Given the description of an element on the screen output the (x, y) to click on. 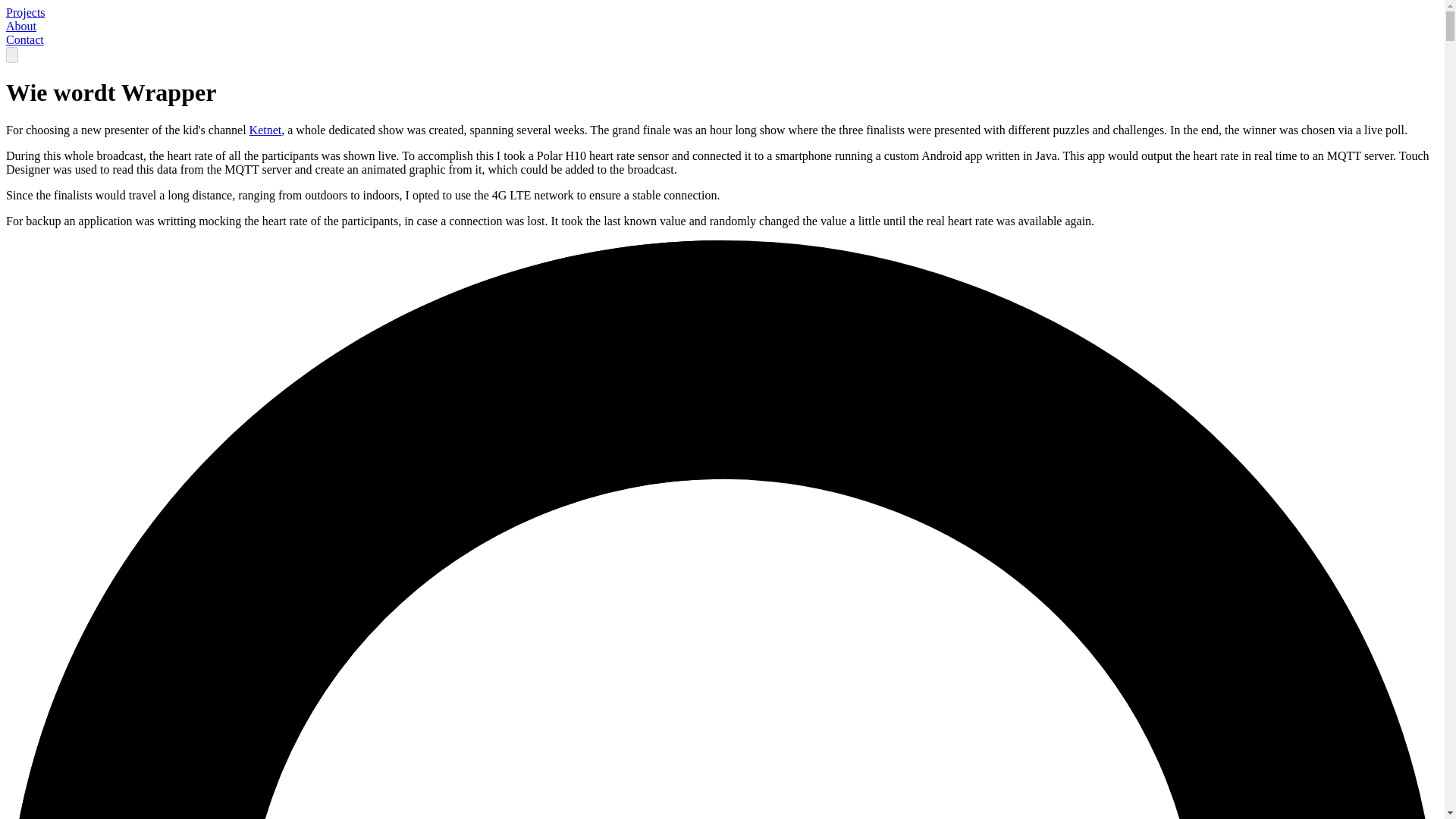
Contact (24, 39)
Ketnet (265, 129)
Projects (25, 11)
About (20, 25)
